Given the description of an element on the screen output the (x, y) to click on. 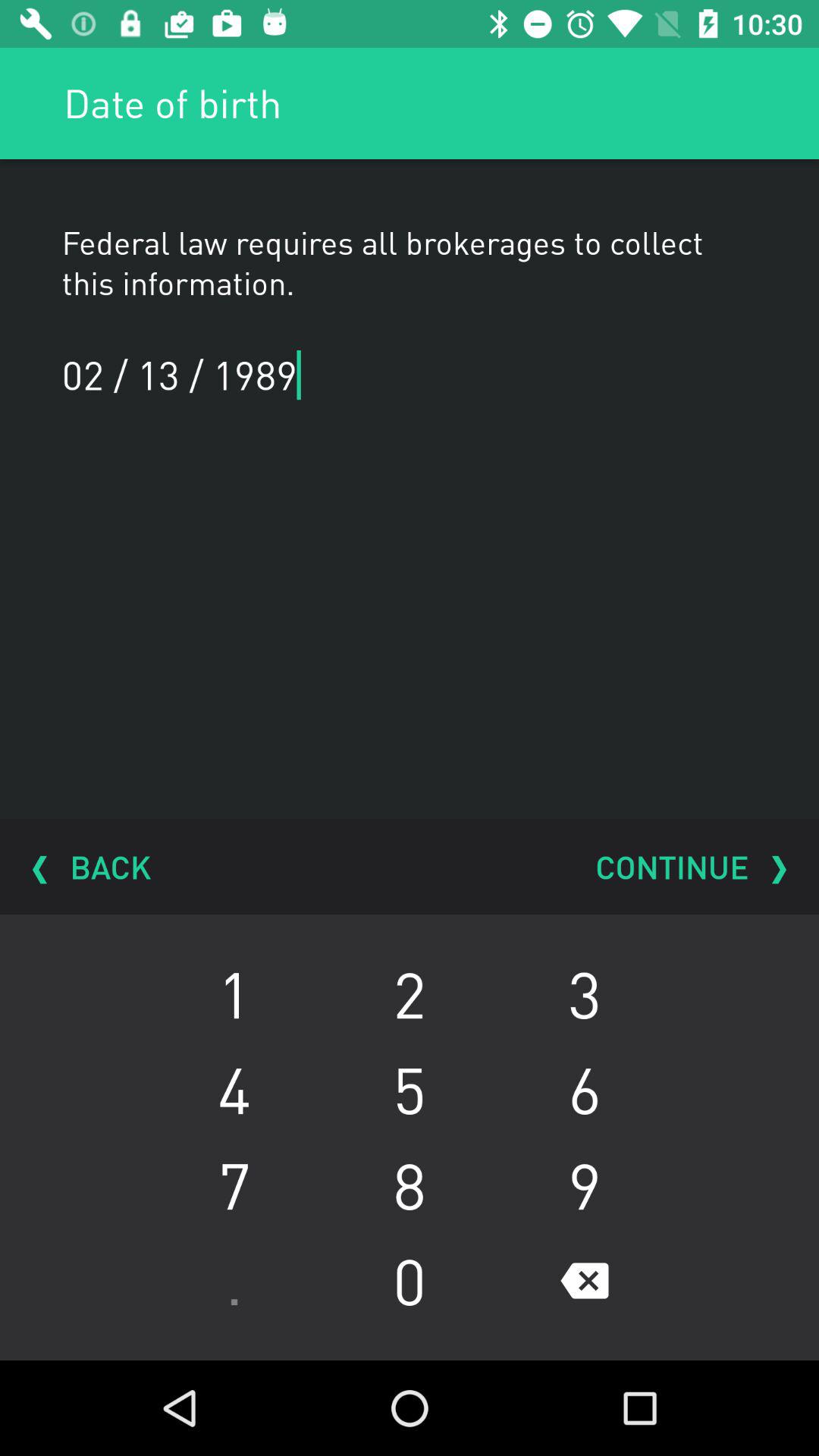
tap the item below 8 (584, 1280)
